Given the description of an element on the screen output the (x, y) to click on. 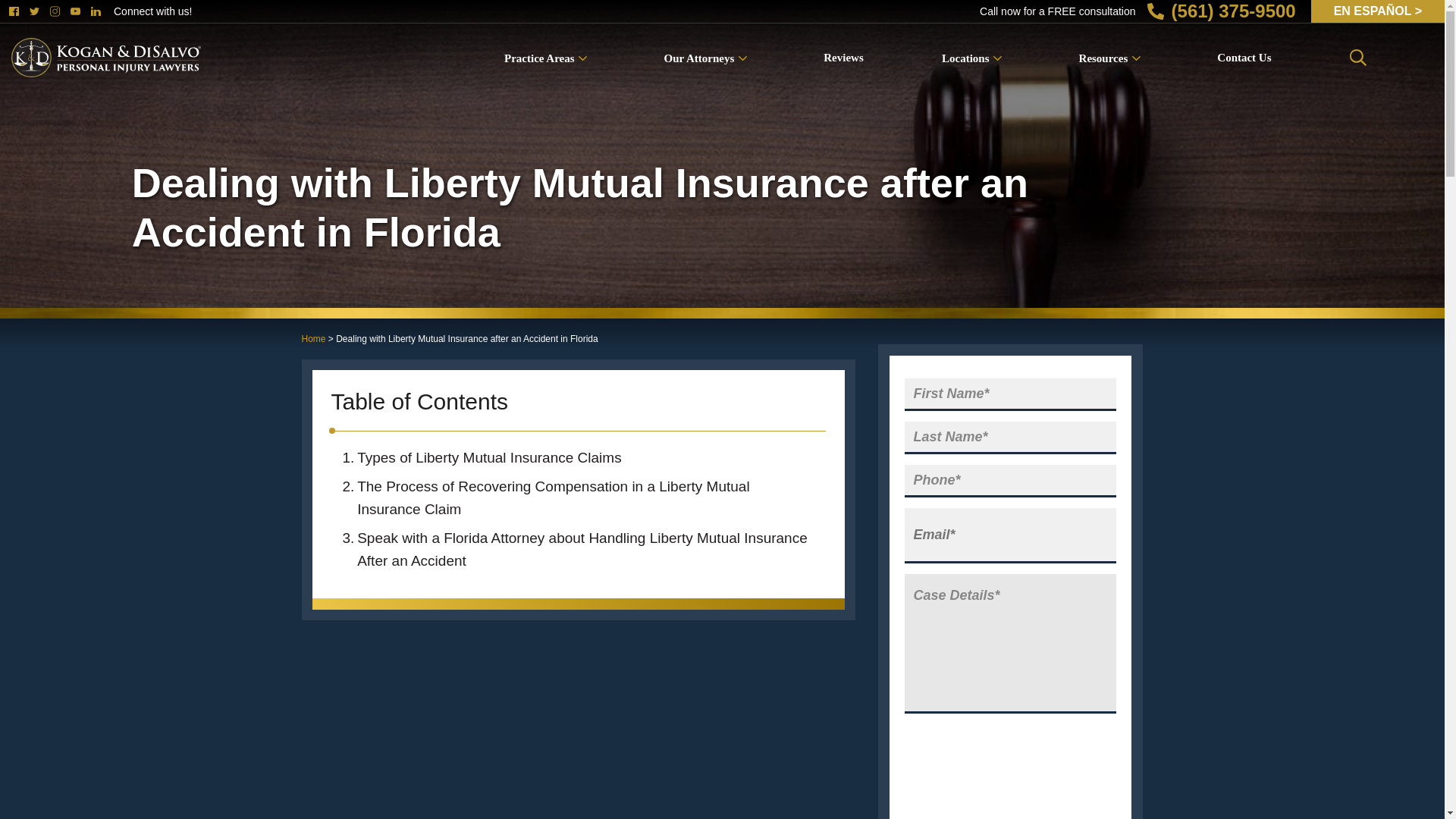
Types of Liberty Mutual Insurance Claims (577, 457)
Practice Areas (544, 57)
Types of Liberty Mutual Insurance Claims (578, 726)
